Given the description of an element on the screen output the (x, y) to click on. 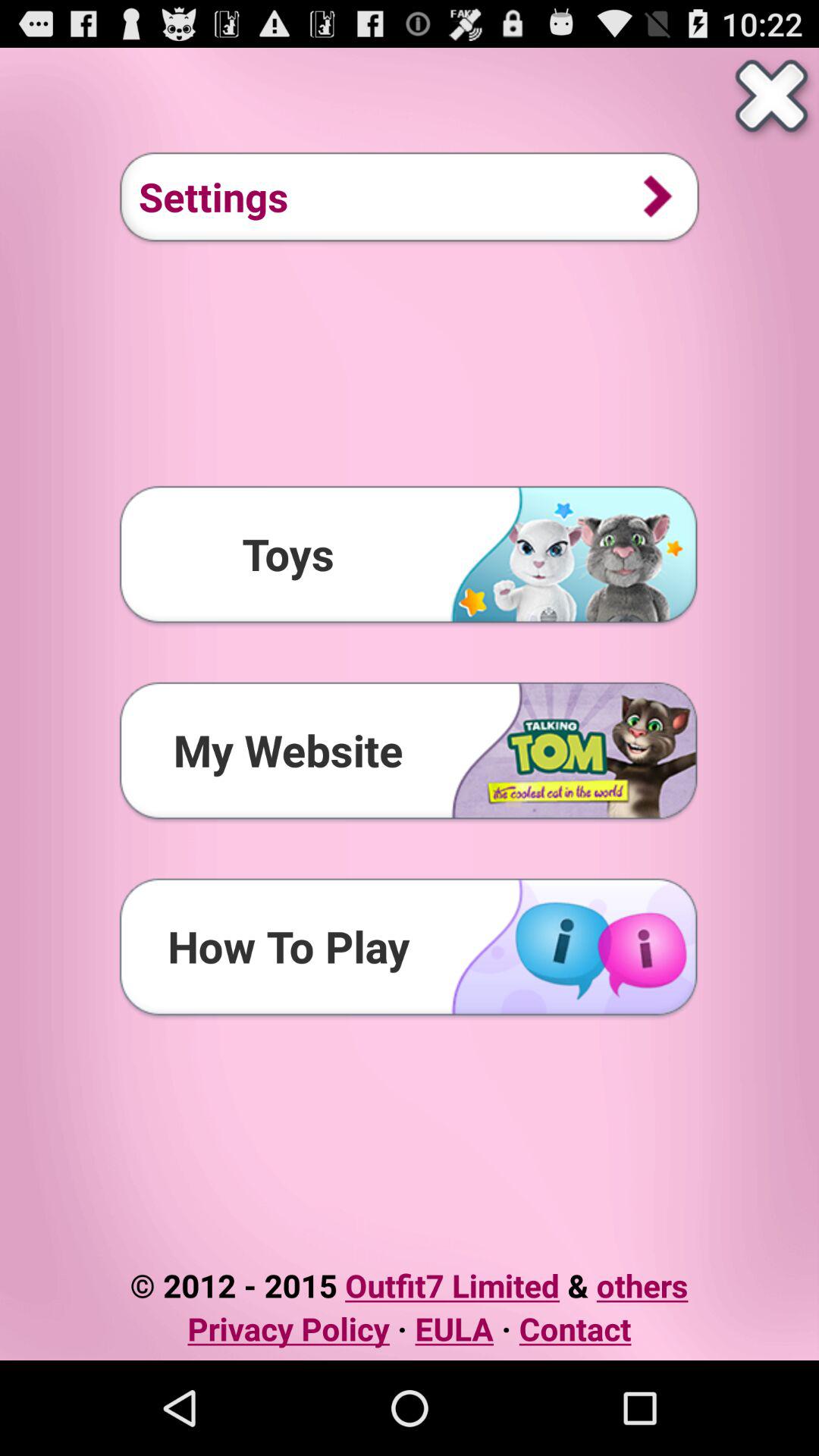
scroll until privacy policy eula icon (409, 1328)
